Given the description of an element on the screen output the (x, y) to click on. 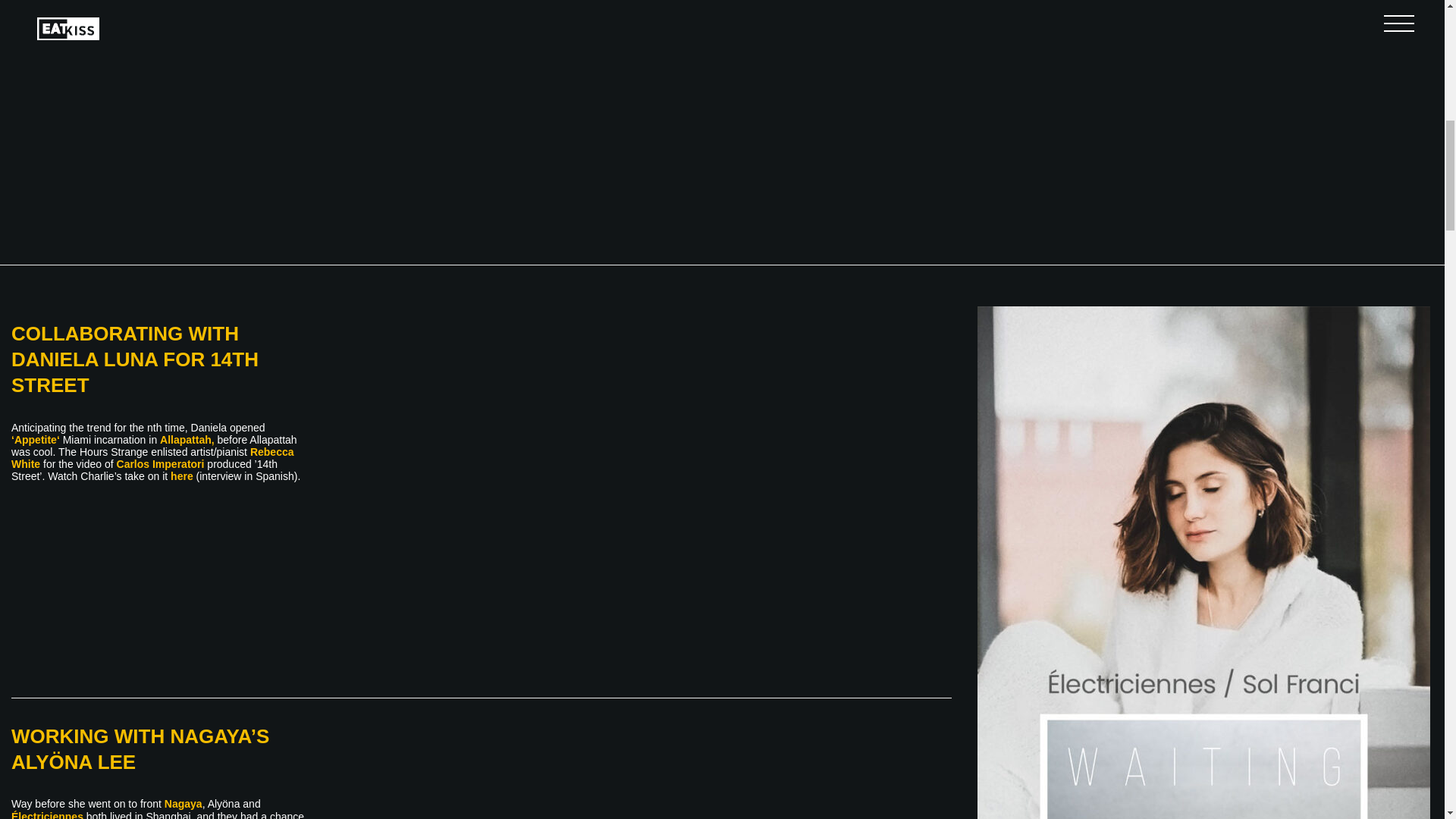
Appetite (35, 439)
Allapattah (185, 439)
Nagaya (183, 803)
Carlos Imperatori (160, 463)
here (181, 476)
Rebecca White (152, 457)
